Given the description of an element on the screen output the (x, y) to click on. 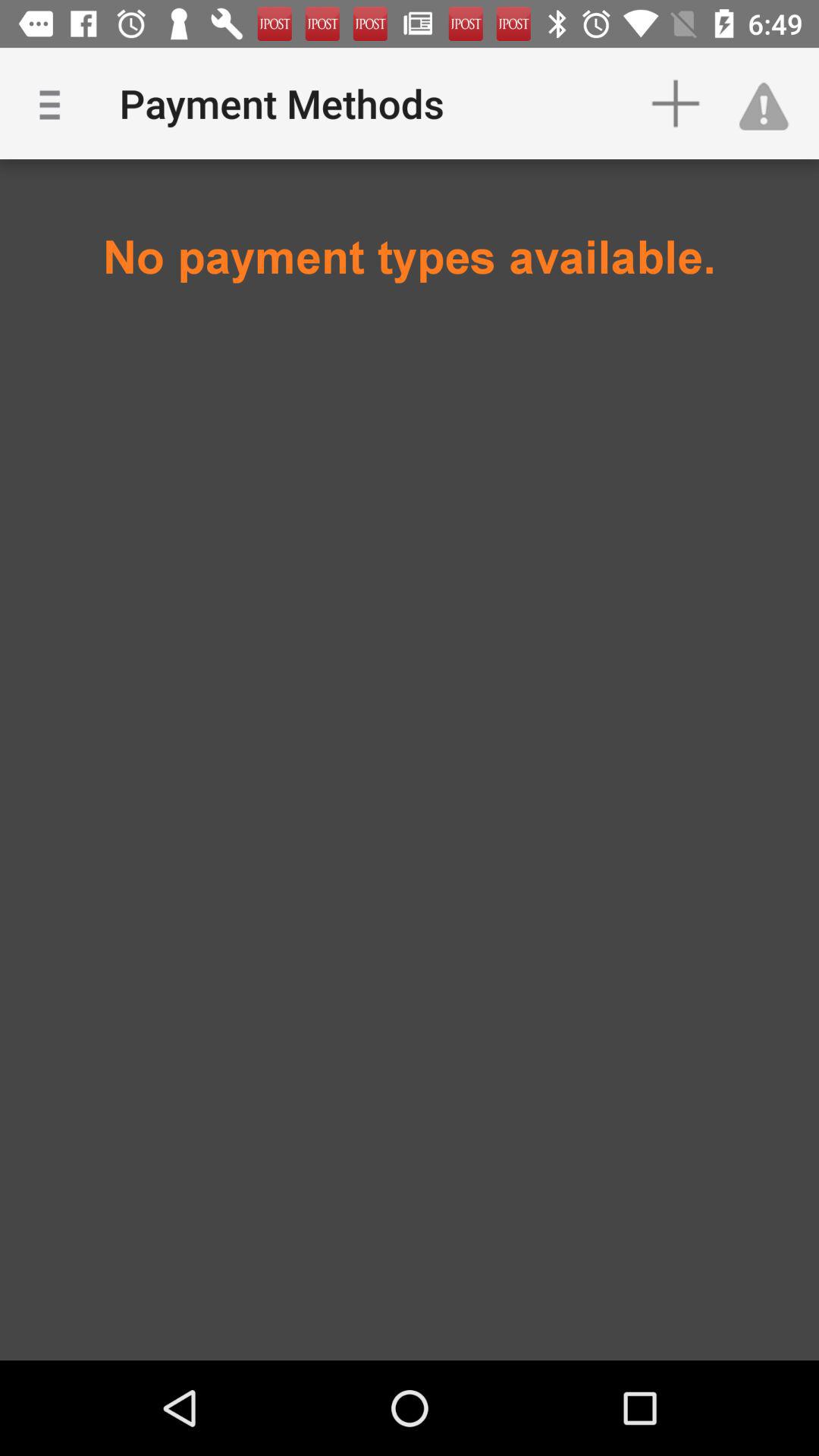
choose the icon above the no payment types (55, 103)
